Given the description of an element on the screen output the (x, y) to click on. 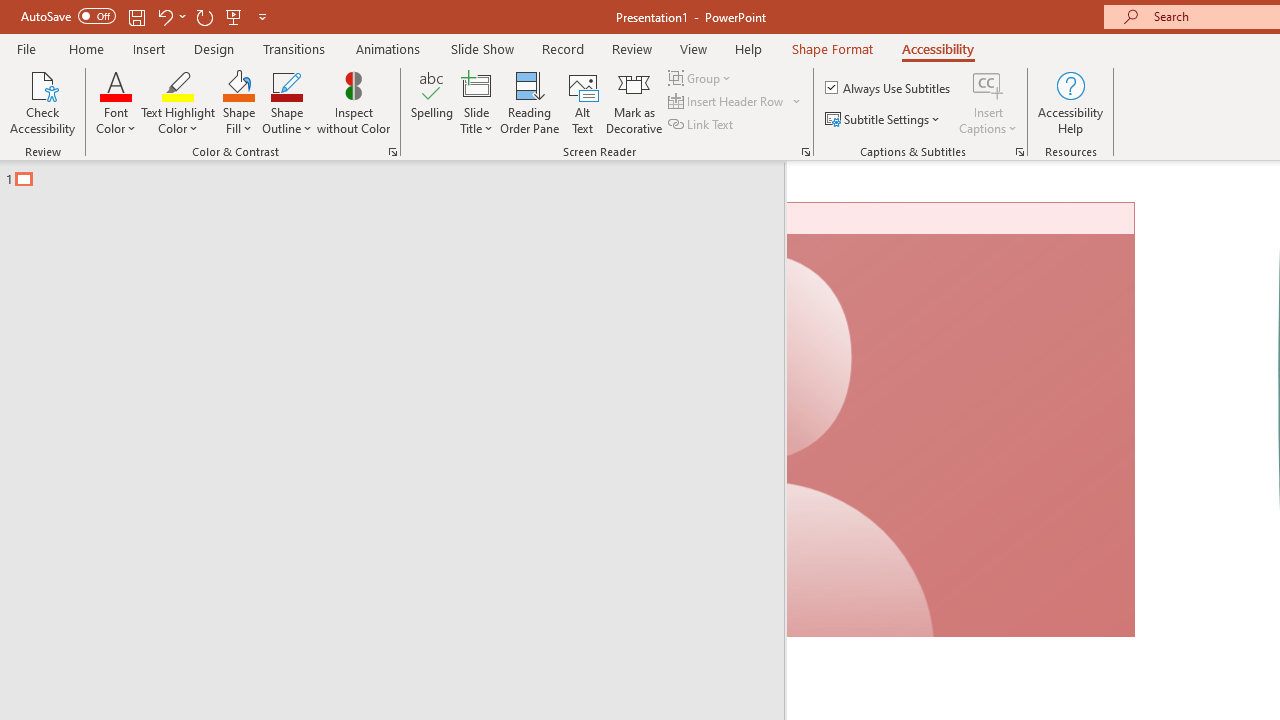
Color & Contrast (392, 151)
Shape Outline Blue, Accent 1 (286, 84)
Inspect without Color (353, 102)
Screen Reader (805, 151)
Accessibility Help (1070, 102)
